Given the description of an element on the screen output the (x, y) to click on. 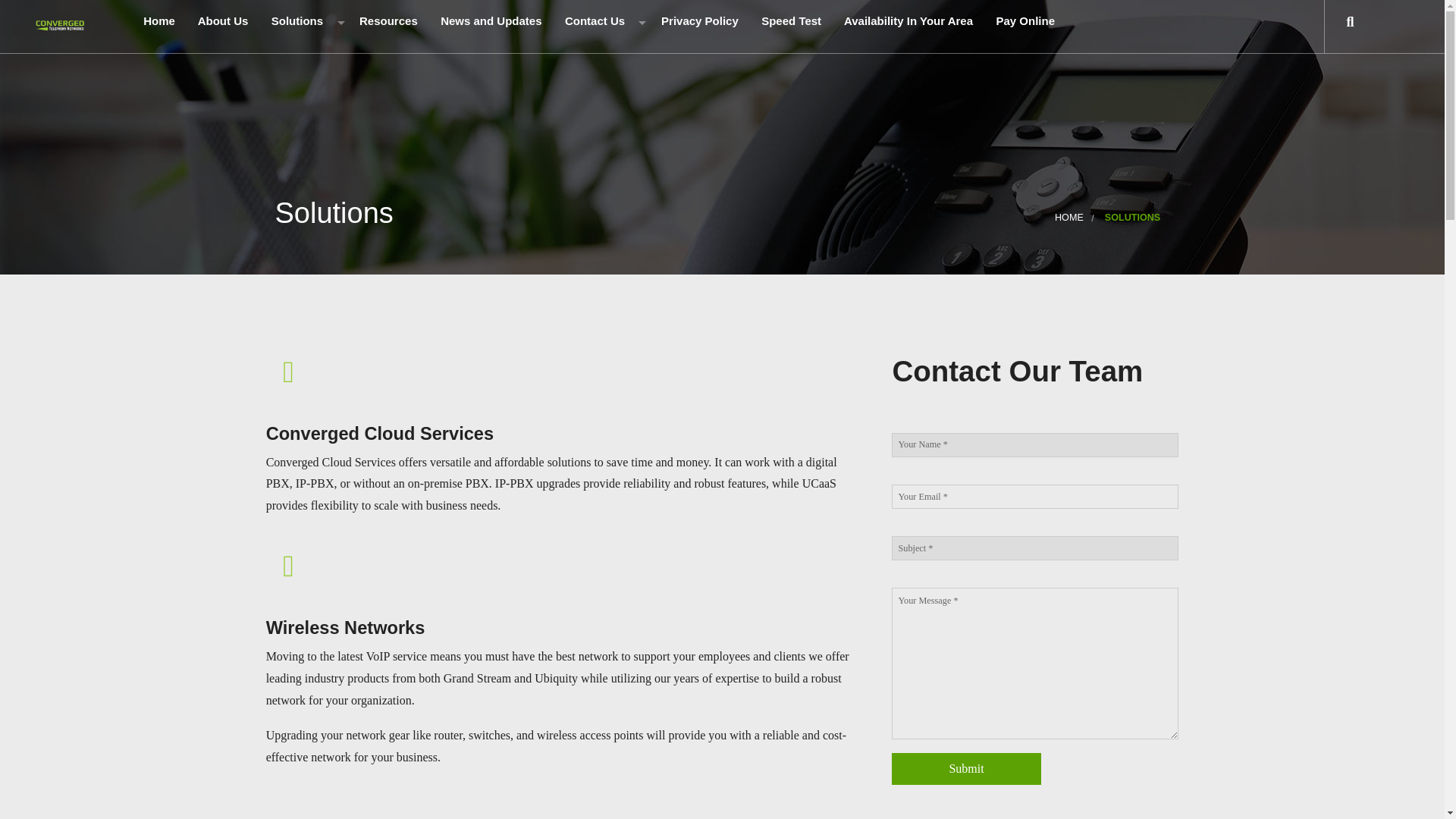
Referral Page (611, 54)
About Us (221, 24)
Cloud Services (317, 114)
Submit (966, 768)
Privacy Policy (697, 24)
News and Updates (489, 24)
Copper to Fiber CTN (317, 235)
Contact Us (599, 24)
HOME (1068, 217)
VOIP Service (317, 175)
Pay Online (1023, 24)
Solutions (301, 24)
Cyber Security (317, 205)
Speed Test (789, 24)
Business Cable Services (317, 54)
